Given the description of an element on the screen output the (x, y) to click on. 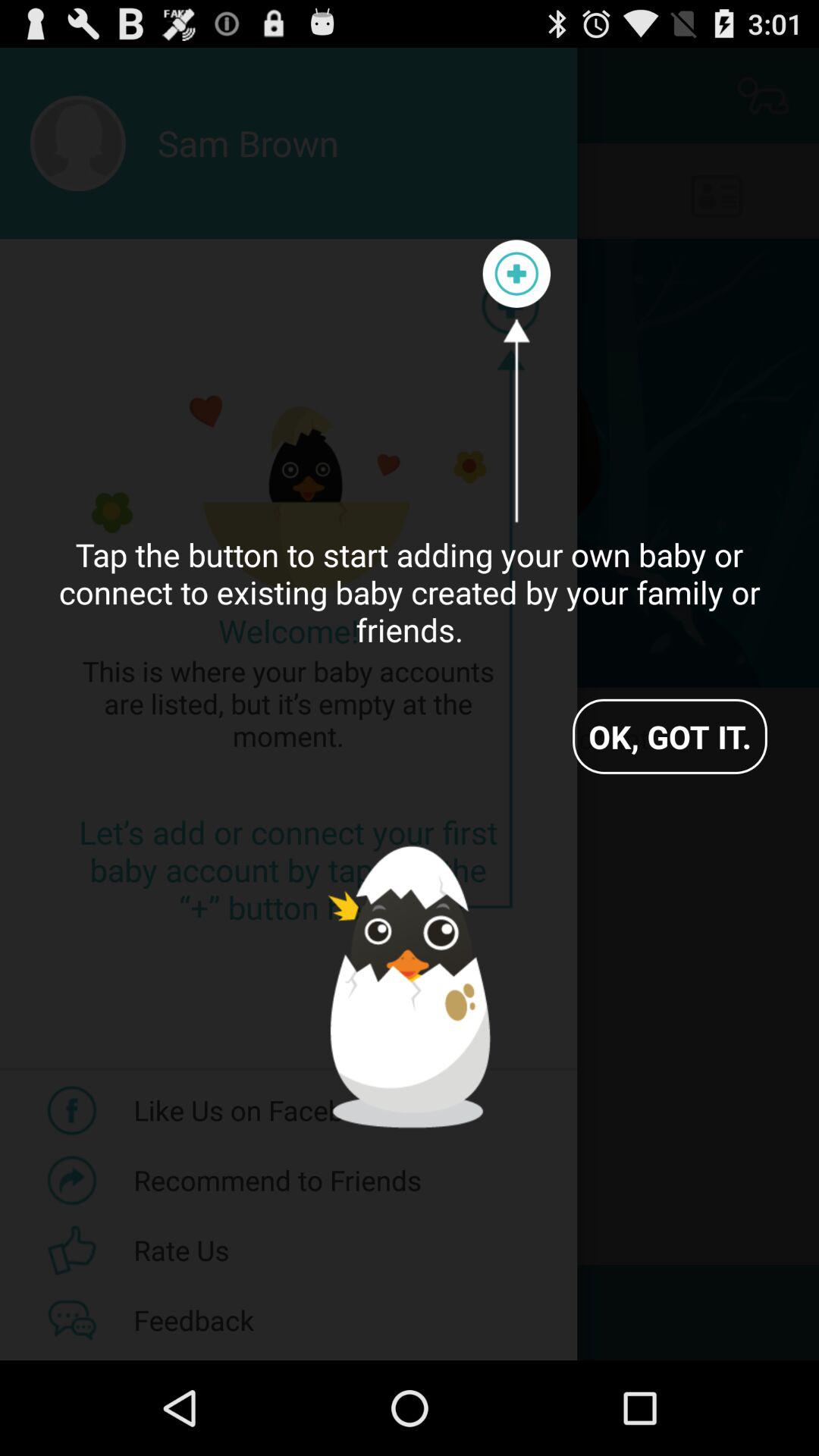
launch the app below the tap the button icon (669, 736)
